Given the description of an element on the screen output the (x, y) to click on. 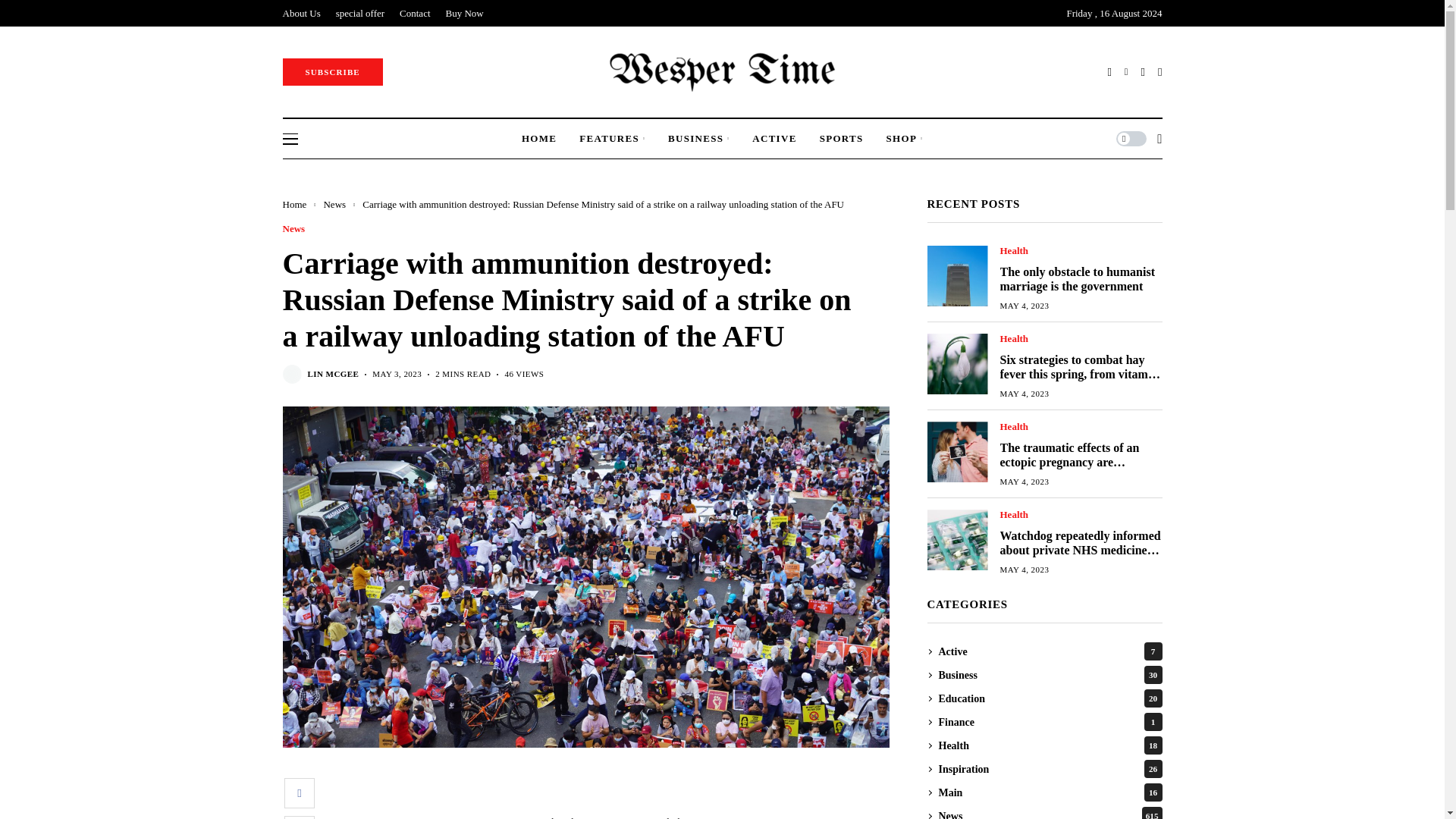
Buy Now (464, 13)
SUBSCRIBE (331, 71)
Contact (413, 13)
FEATURES (612, 138)
special offer (360, 13)
Posts by Lin McGee (333, 374)
About Us (301, 13)
